Given the description of an element on the screen output the (x, y) to click on. 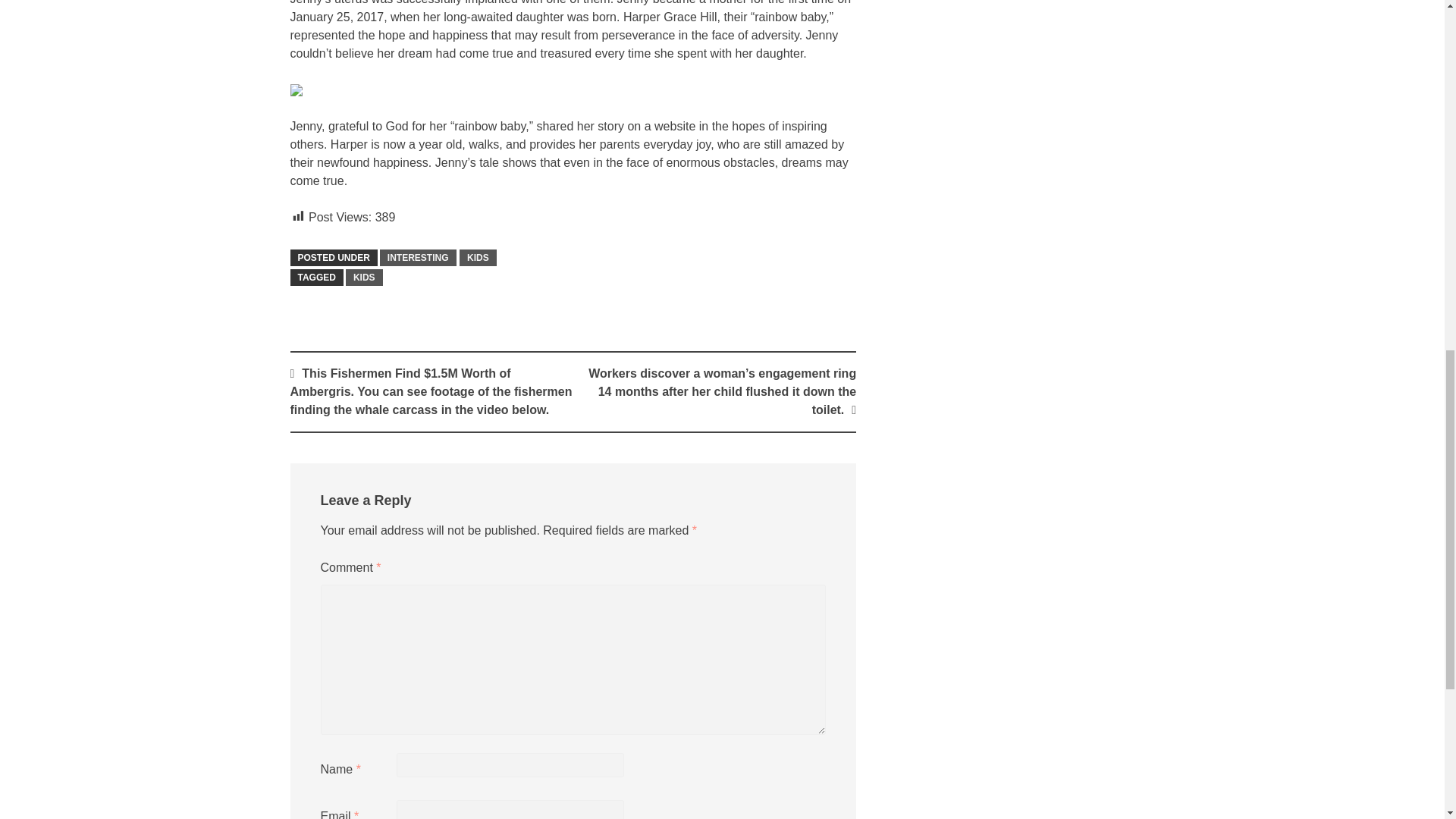
INTERESTING (418, 257)
KIDS (478, 257)
KIDS (364, 277)
